Given the description of an element on the screen output the (x, y) to click on. 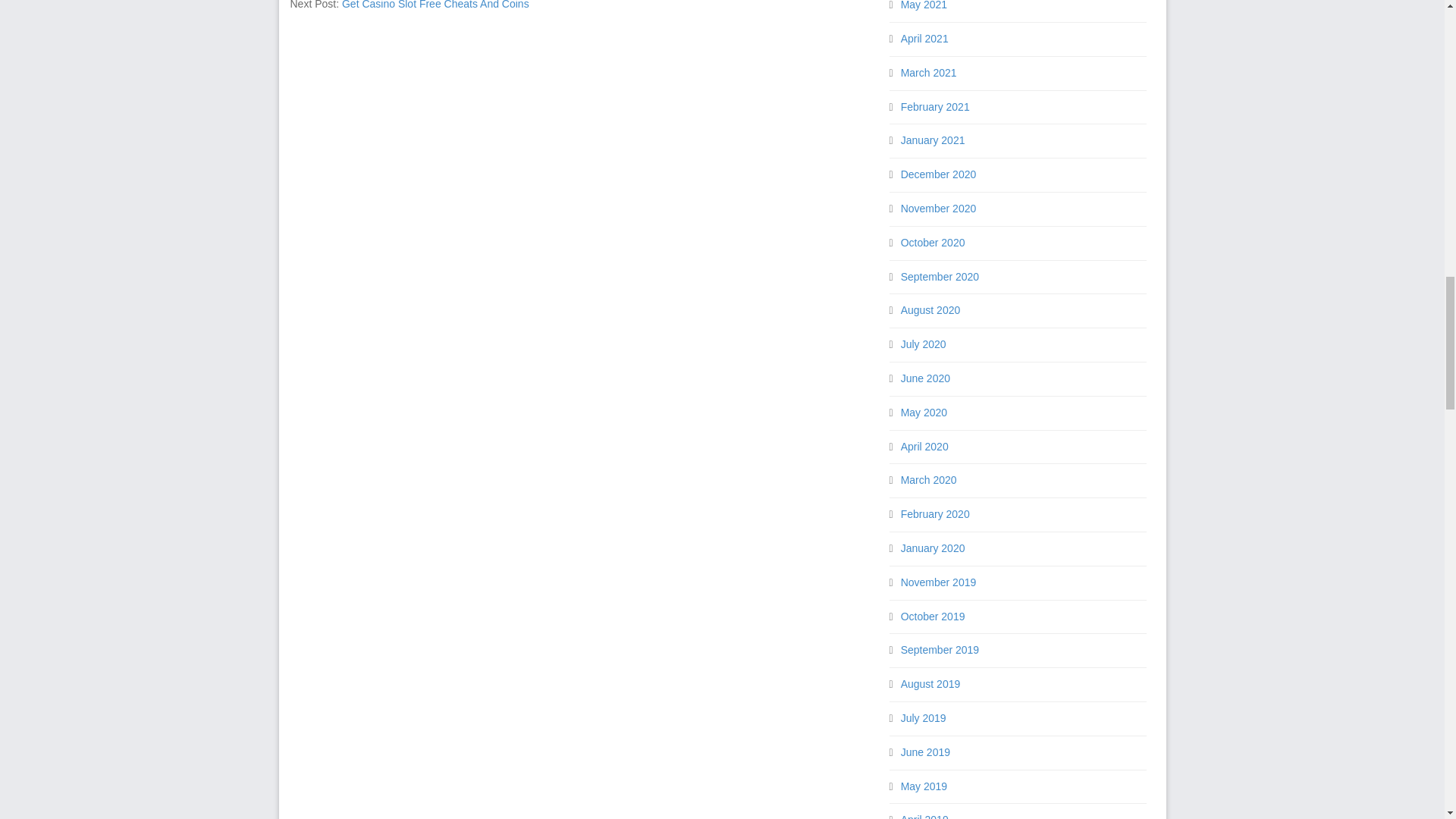
Get Casino Slot Free Cheats And Coins (435, 4)
